Given the description of an element on the screen output the (x, y) to click on. 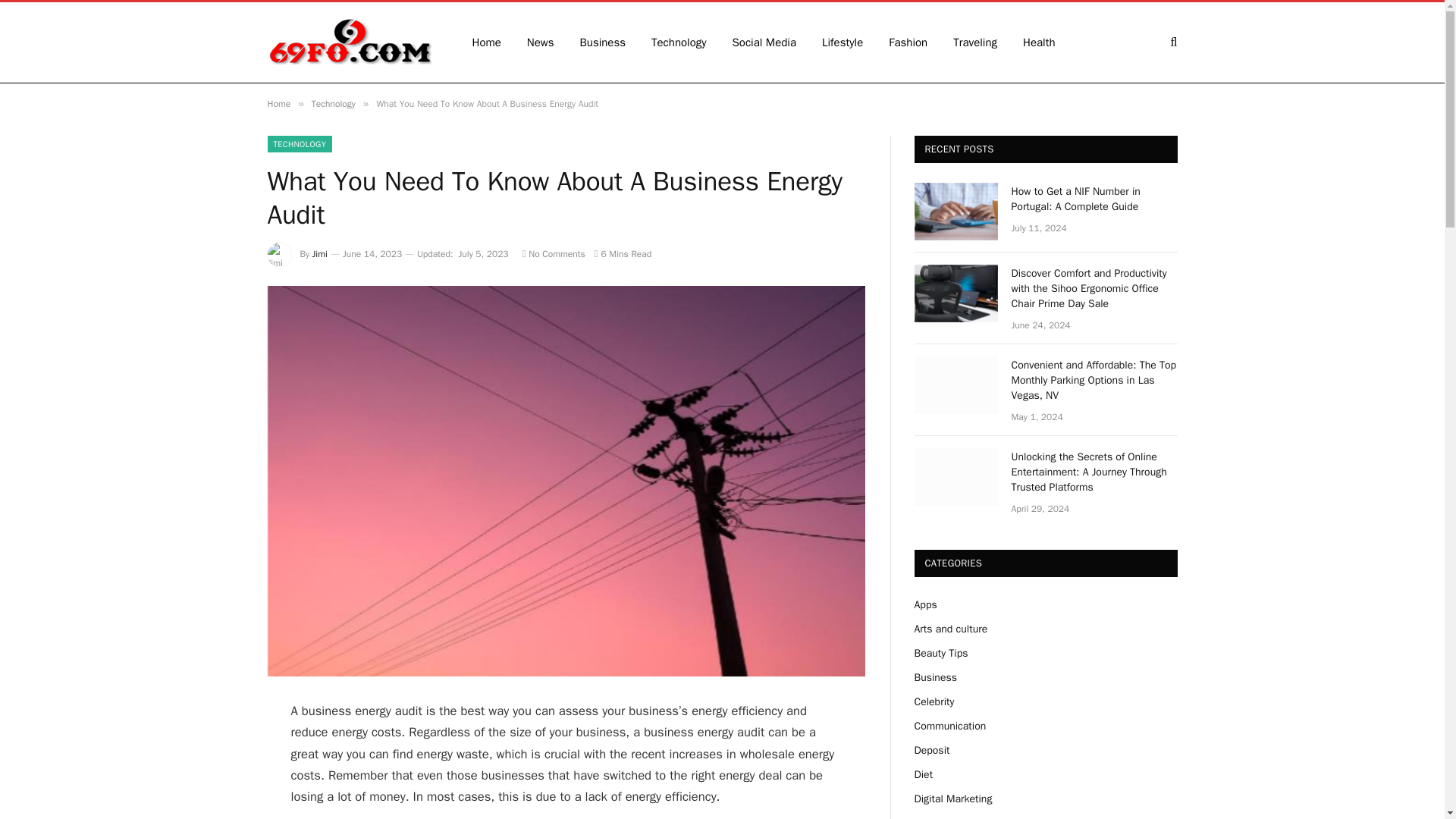
Business (603, 42)
How to Get a NIF Number in Portugal: A Complete Guide (955, 211)
Social Media (764, 42)
Technology (679, 42)
No Comments (553, 254)
